Given the description of an element on the screen output the (x, y) to click on. 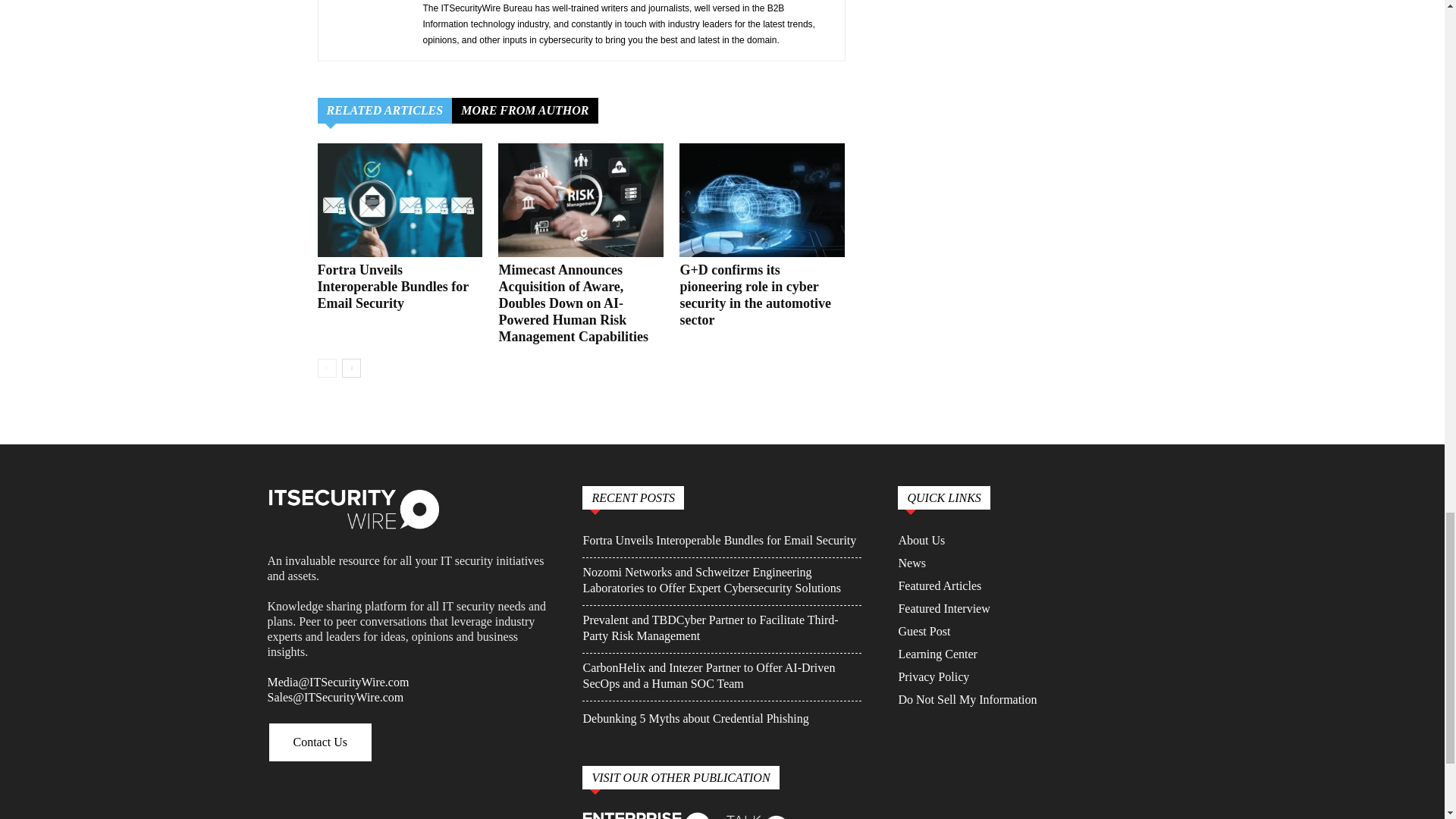
Fortra Unveils Interoperable Bundles for Email Security (399, 200)
Fortra Unveils Interoperable Bundles for Email Security (392, 286)
